Given the description of an element on the screen output the (x, y) to click on. 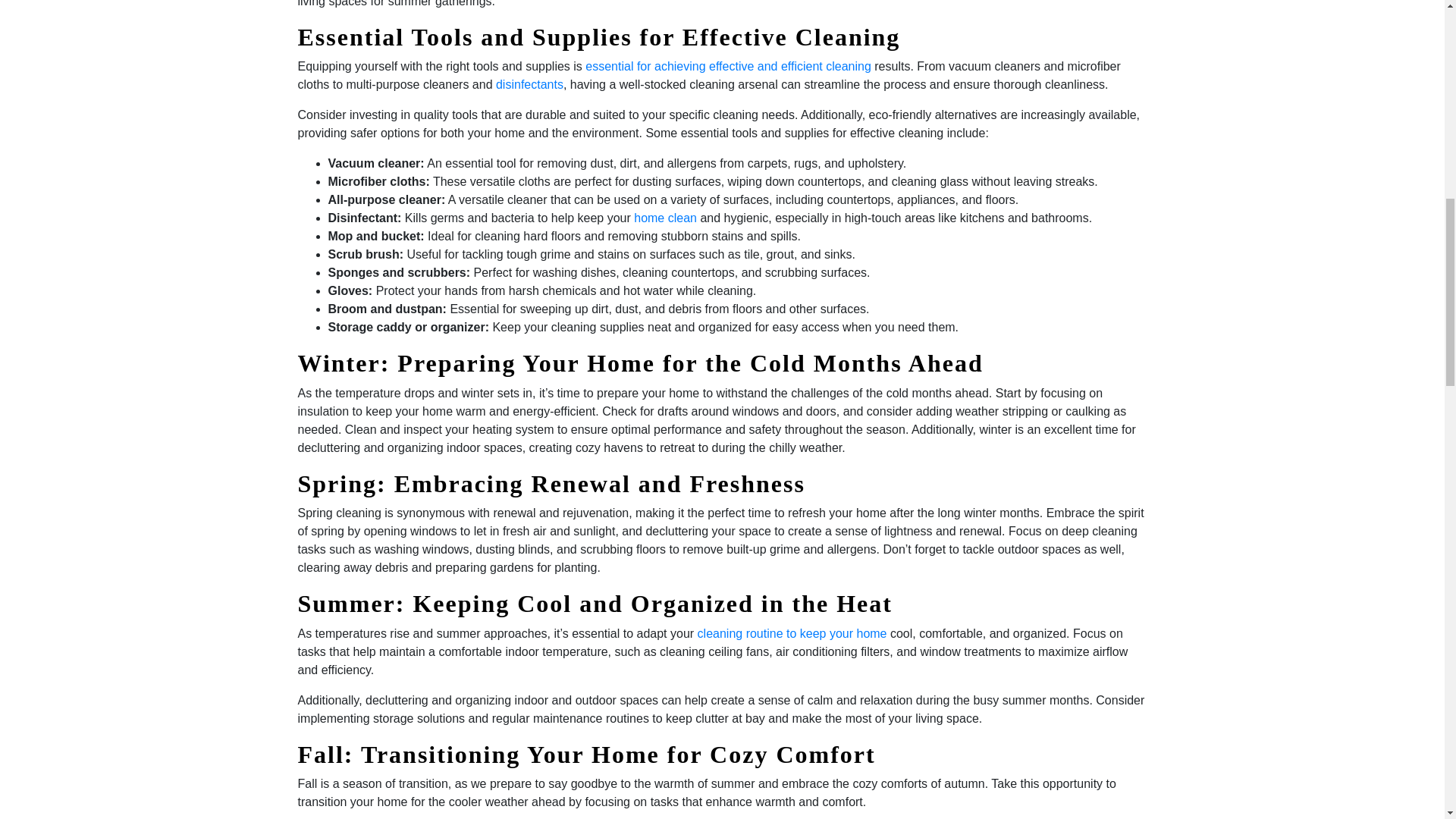
disinfectants (529, 83)
cleaning routine to keep your home (791, 633)
home clean (665, 217)
essential for achieving effective and efficient cleaning (727, 65)
